Given the description of an element on the screen output the (x, y) to click on. 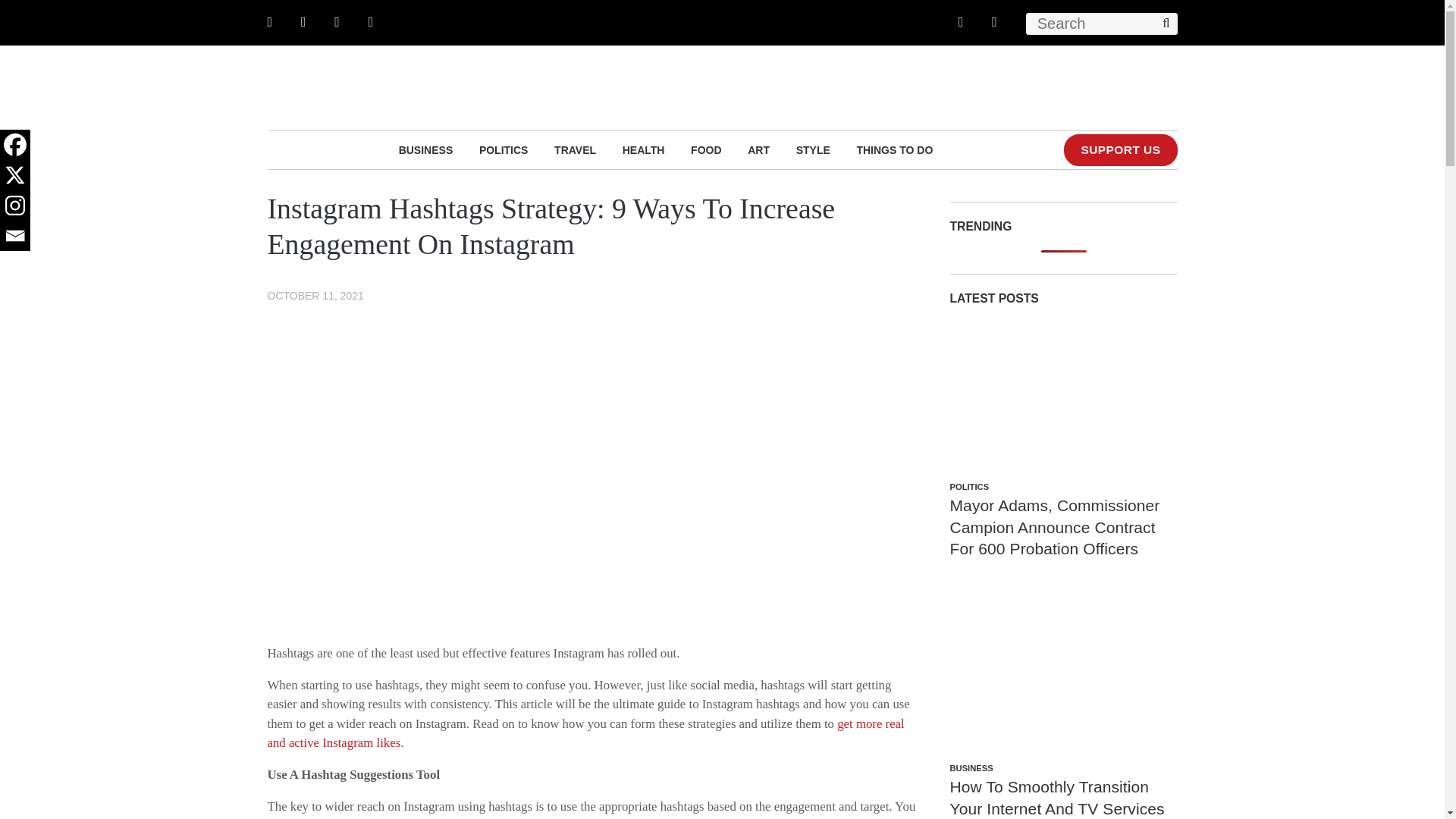
HEALTH (644, 149)
TRAVEL (574, 149)
SUPPORT US (1120, 150)
THINGS TO DO (894, 149)
X (15, 174)
get more real and active Instagram likes (585, 733)
Instagram (15, 205)
Facebook (15, 144)
BUSINESS (425, 149)
POLITICS (503, 149)
